Given the description of an element on the screen output the (x, y) to click on. 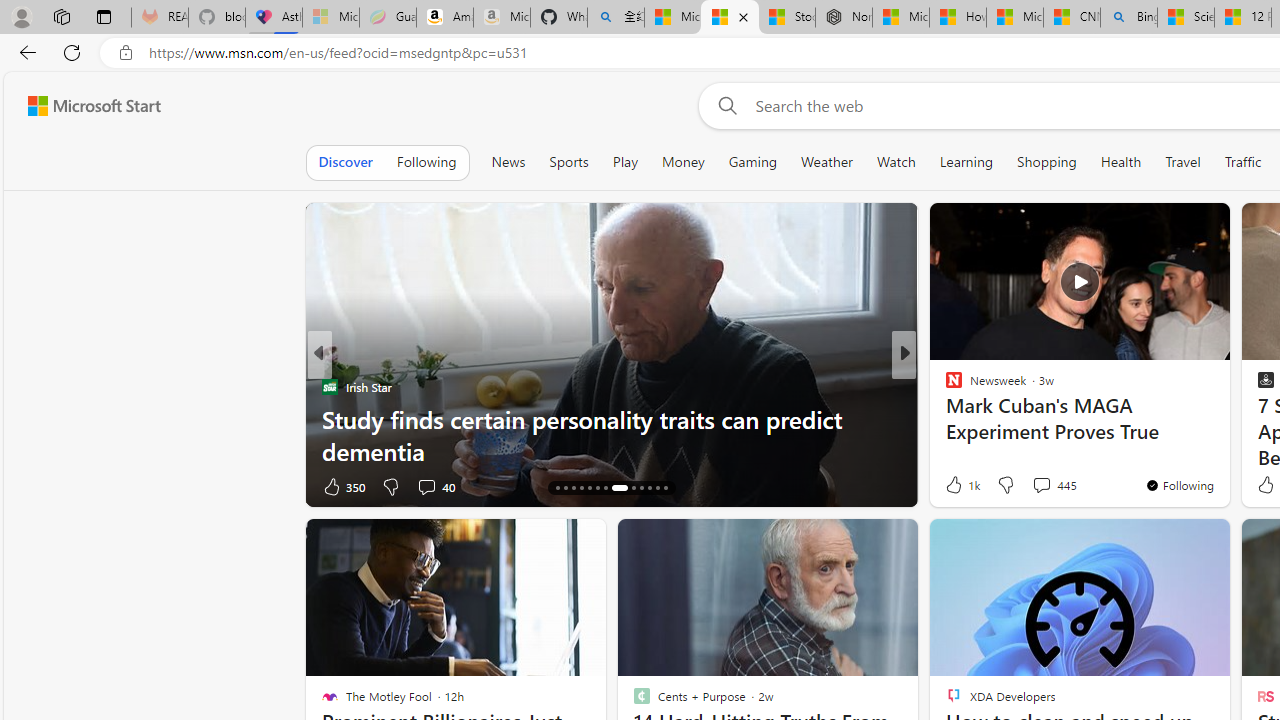
25 Like (956, 486)
42 Like (956, 486)
AutomationID: tab-15 (564, 487)
View comments 13 Comment (1042, 485)
